Given the description of an element on the screen output the (x, y) to click on. 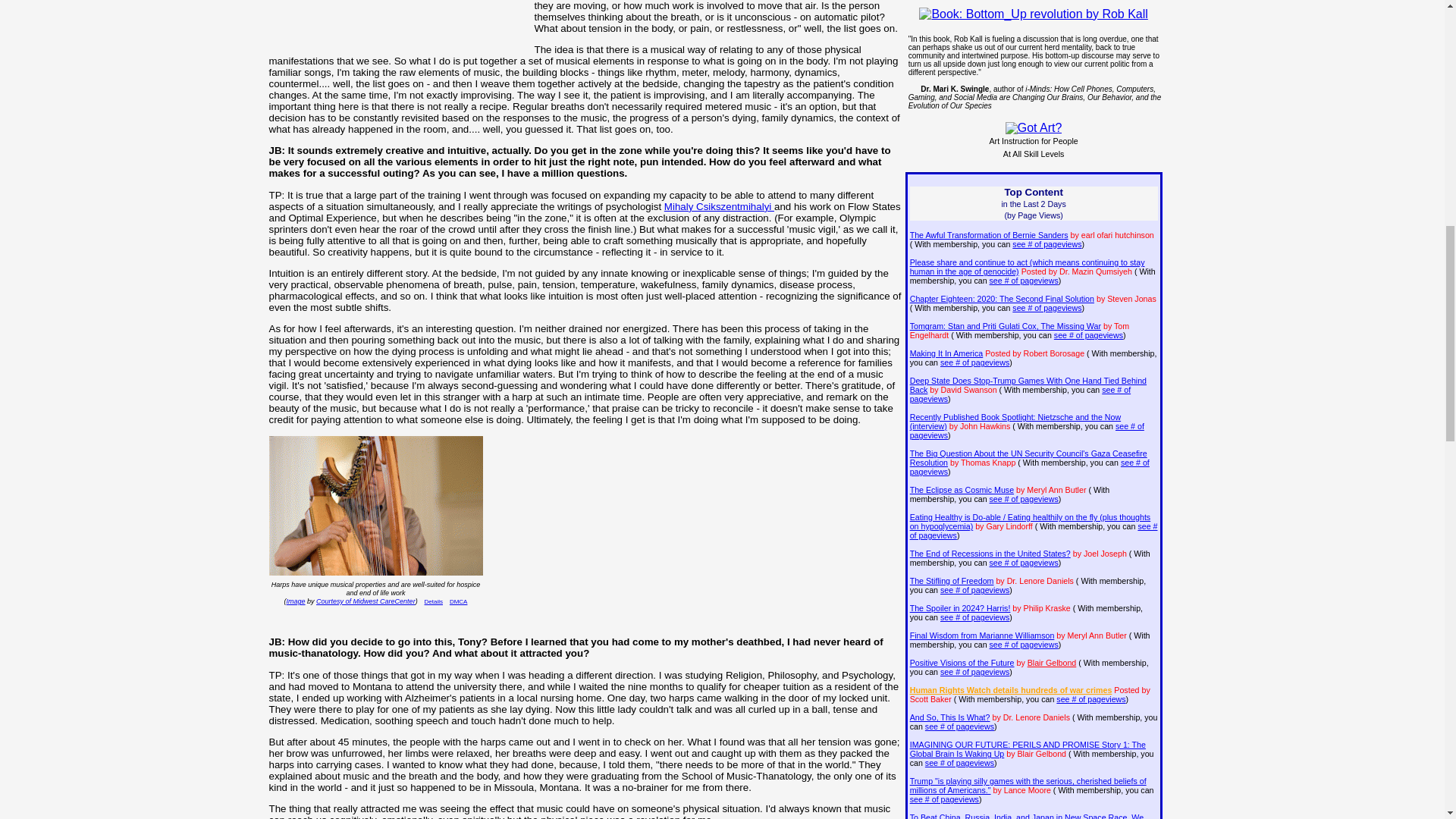
DMCA (458, 601)
Image (295, 601)
Mihaly Csikszentmihalyi (718, 206)
Report Copyright Violation (458, 601)
Courtesy of Midwest CareCenter (364, 601)
-- (718, 206)
Details (433, 601)
